Given the description of an element on the screen output the (x, y) to click on. 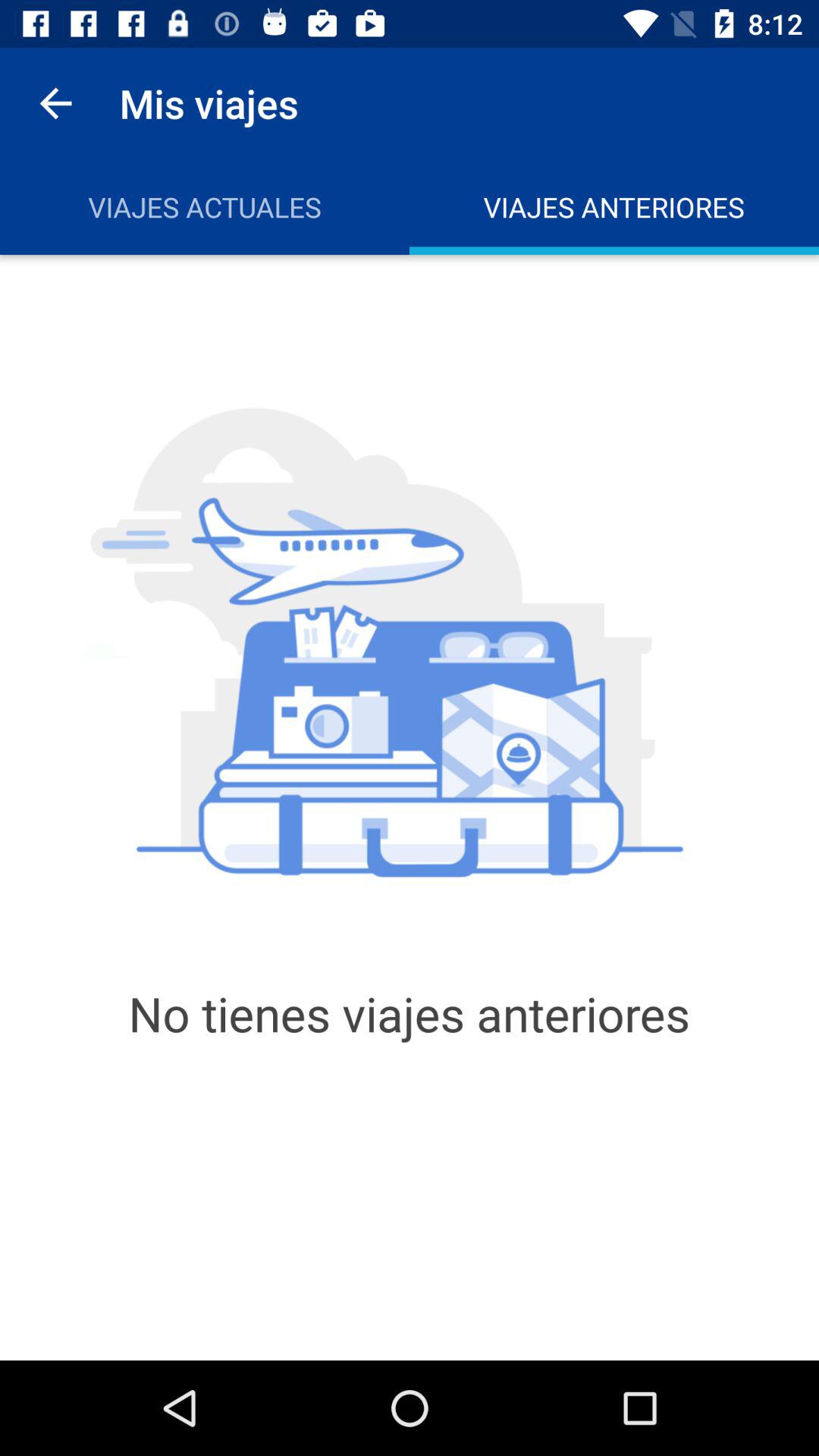
click the app next to mis viajes (55, 103)
